Given the description of an element on the screen output the (x, y) to click on. 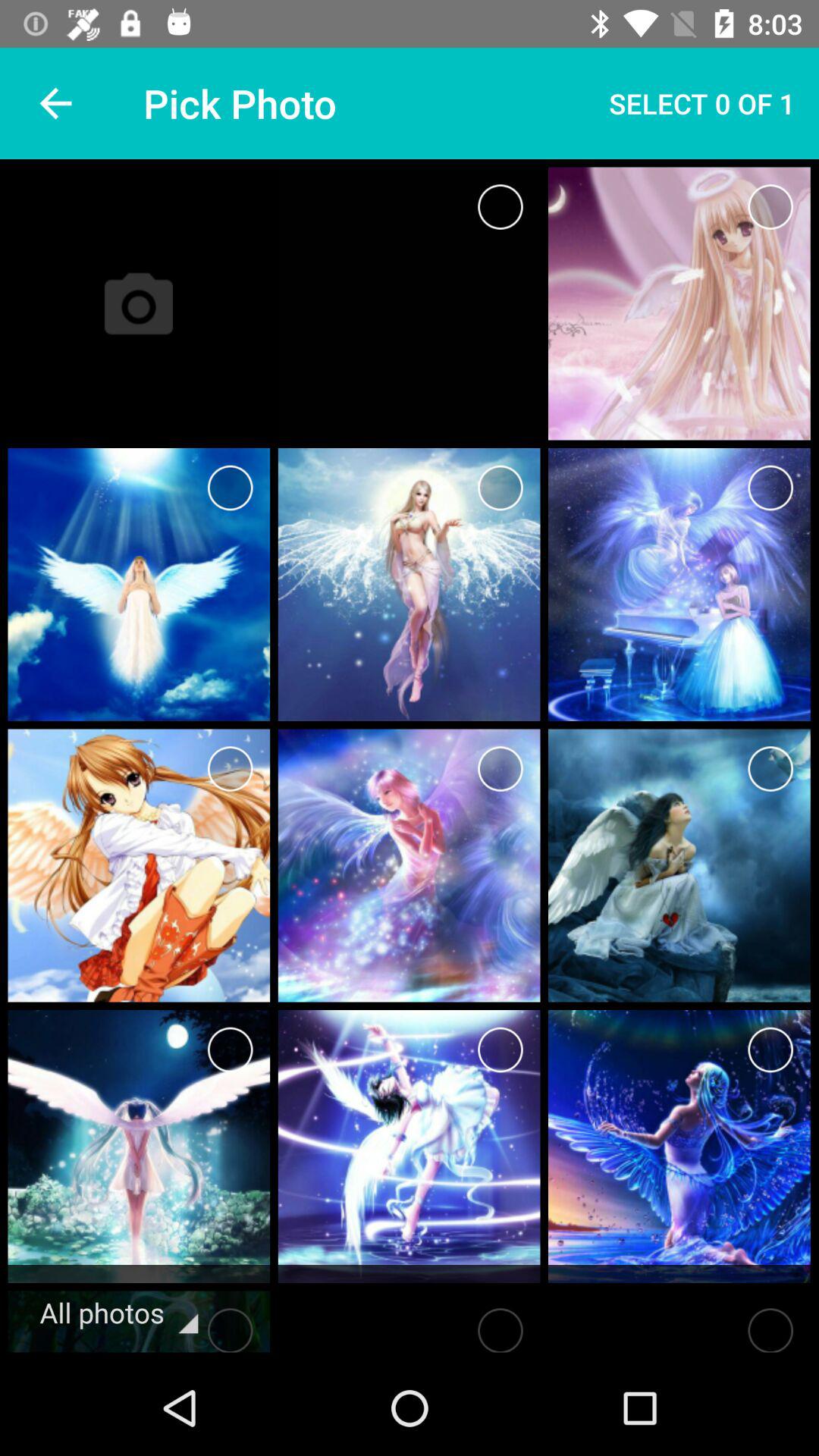
choose image (230, 768)
